Given the description of an element on the screen output the (x, y) to click on. 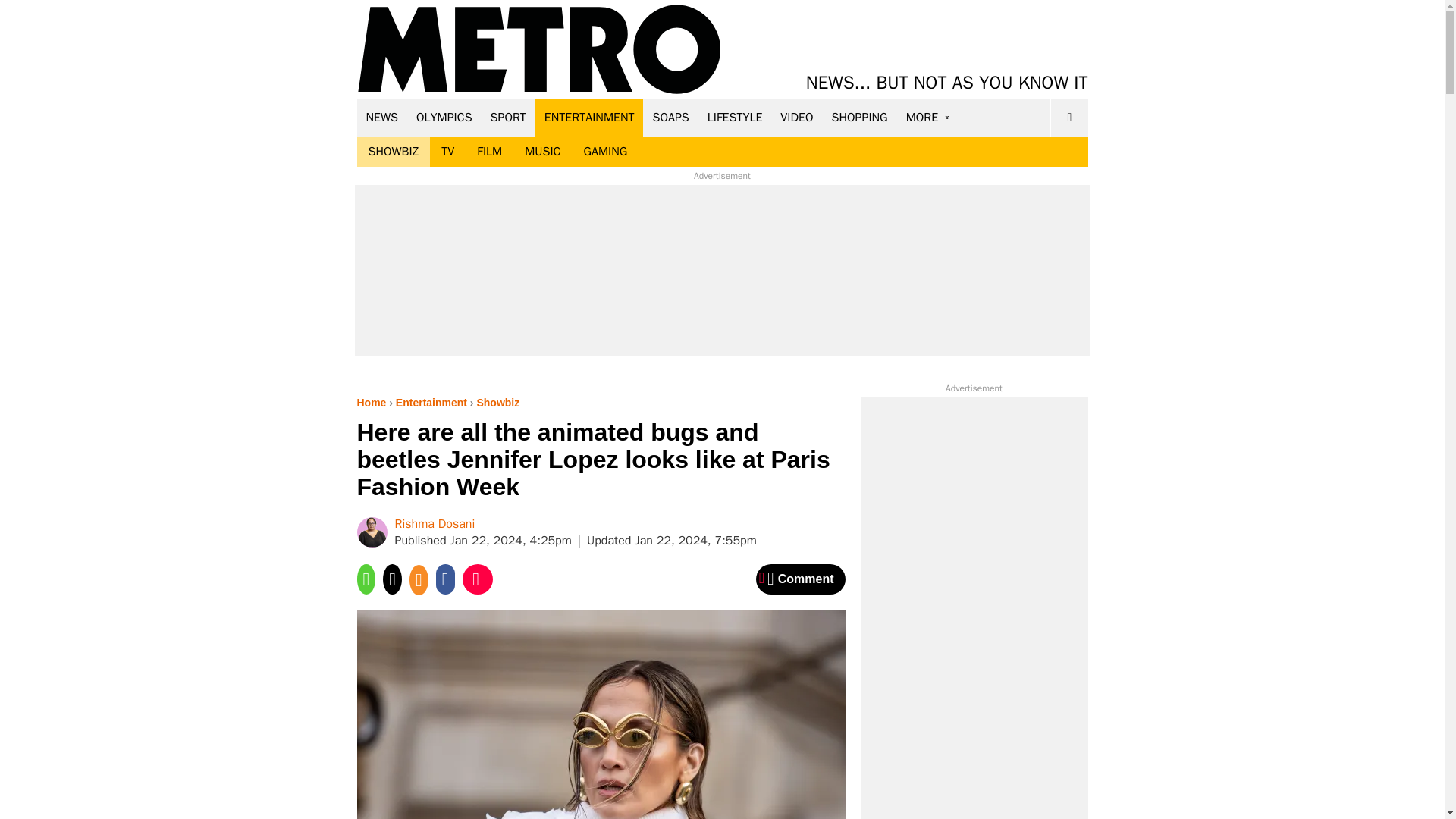
Metro (539, 50)
SOAPS (670, 117)
SHOWBIZ (392, 151)
NEWS (381, 117)
MUSIC (542, 151)
TV (447, 151)
FILM (489, 151)
LIFESTYLE (734, 117)
ENTERTAINMENT (589, 117)
OLYMPICS (444, 117)
